Given the description of an element on the screen output the (x, y) to click on. 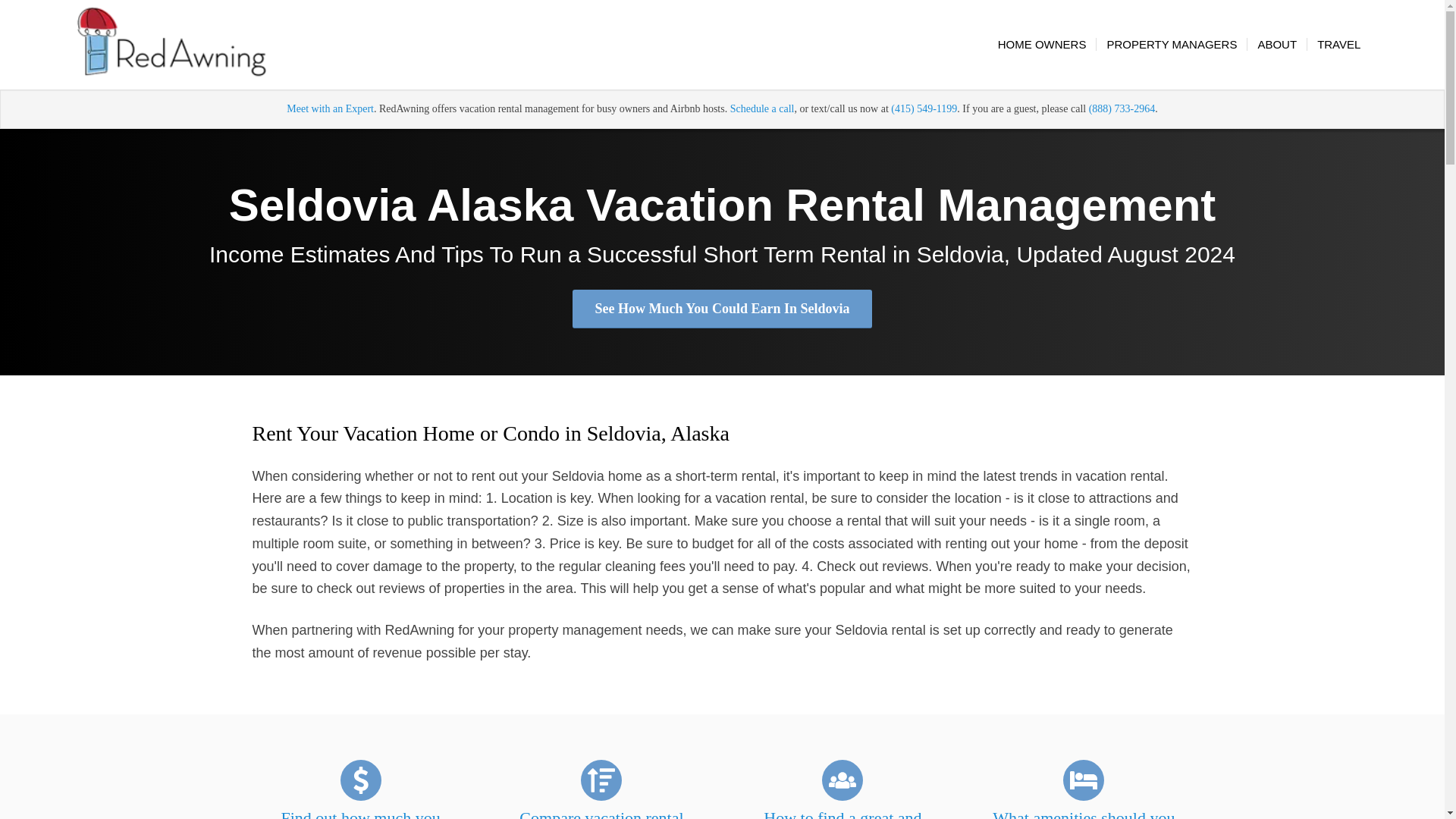
RedAwning (171, 44)
PROPERTY MANAGERS (1171, 44)
Meet with an Expert (330, 108)
HOME OWNERS (1042, 44)
